Given the description of an element on the screen output the (x, y) to click on. 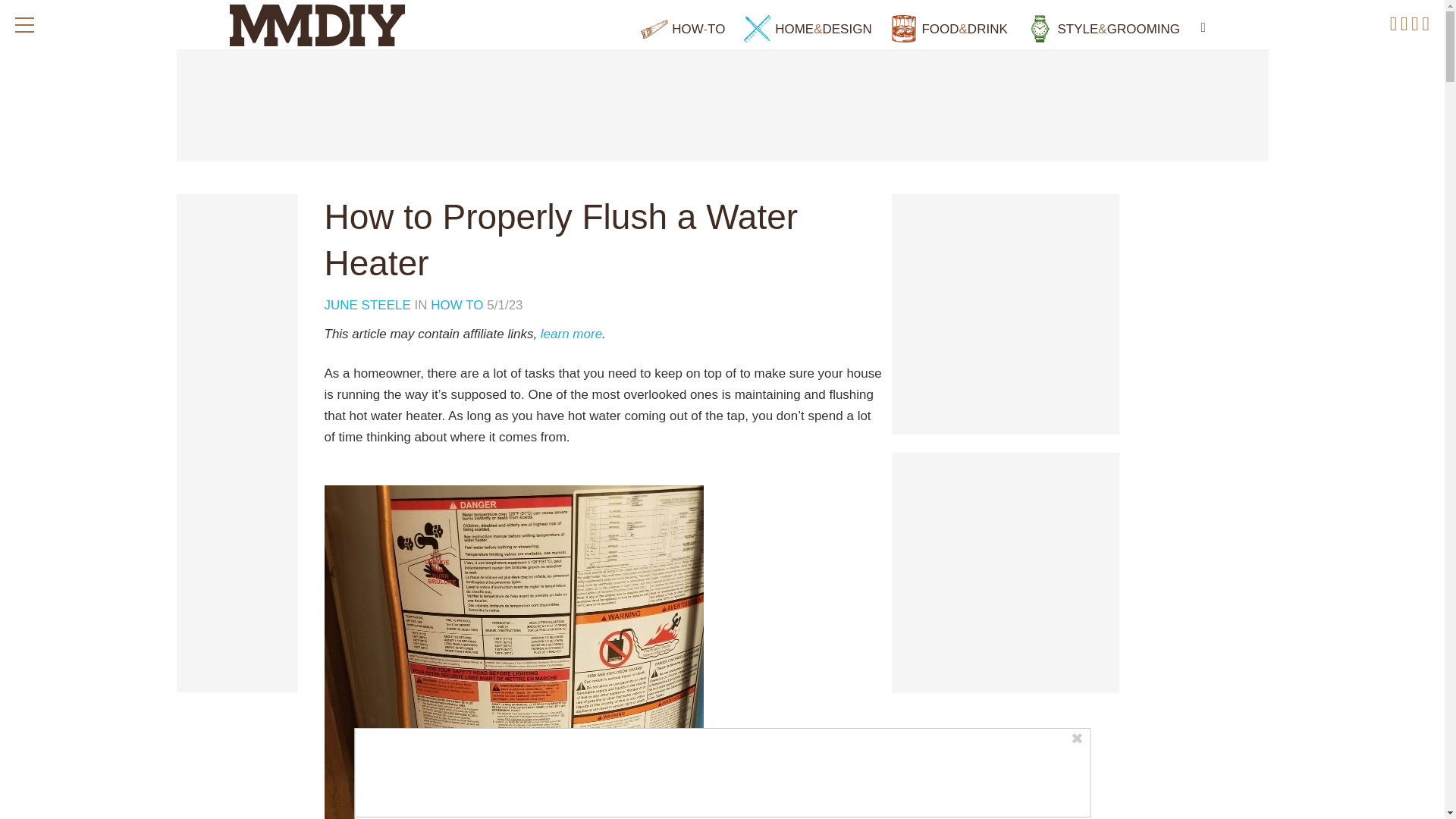
HOW-TO (682, 28)
learn more (571, 333)
JUNE STEELE (369, 305)
HOW TO (456, 305)
